Given the description of an element on the screen output the (x, y) to click on. 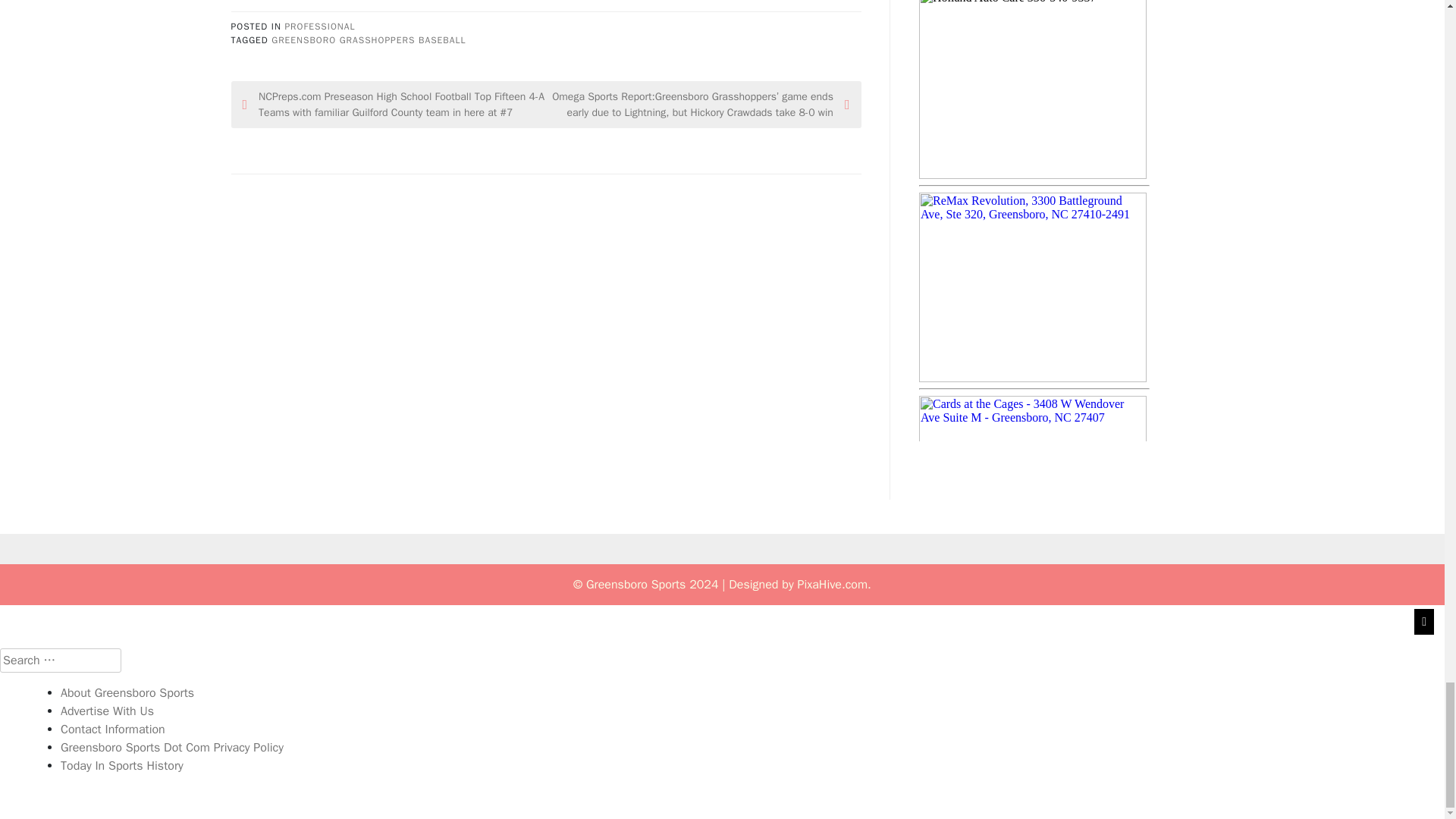
PixaHive.com (831, 584)
About Greensboro Sports (127, 693)
Today In Sports History (122, 765)
GREENSBORO GRASSHOPPERS BASEBALL (367, 39)
Advertise With Us (107, 711)
Contact Information (113, 729)
Greensboro Sports Dot Com Privacy Policy (172, 747)
PROFESSIONAL (319, 26)
